Given the description of an element on the screen output the (x, y) to click on. 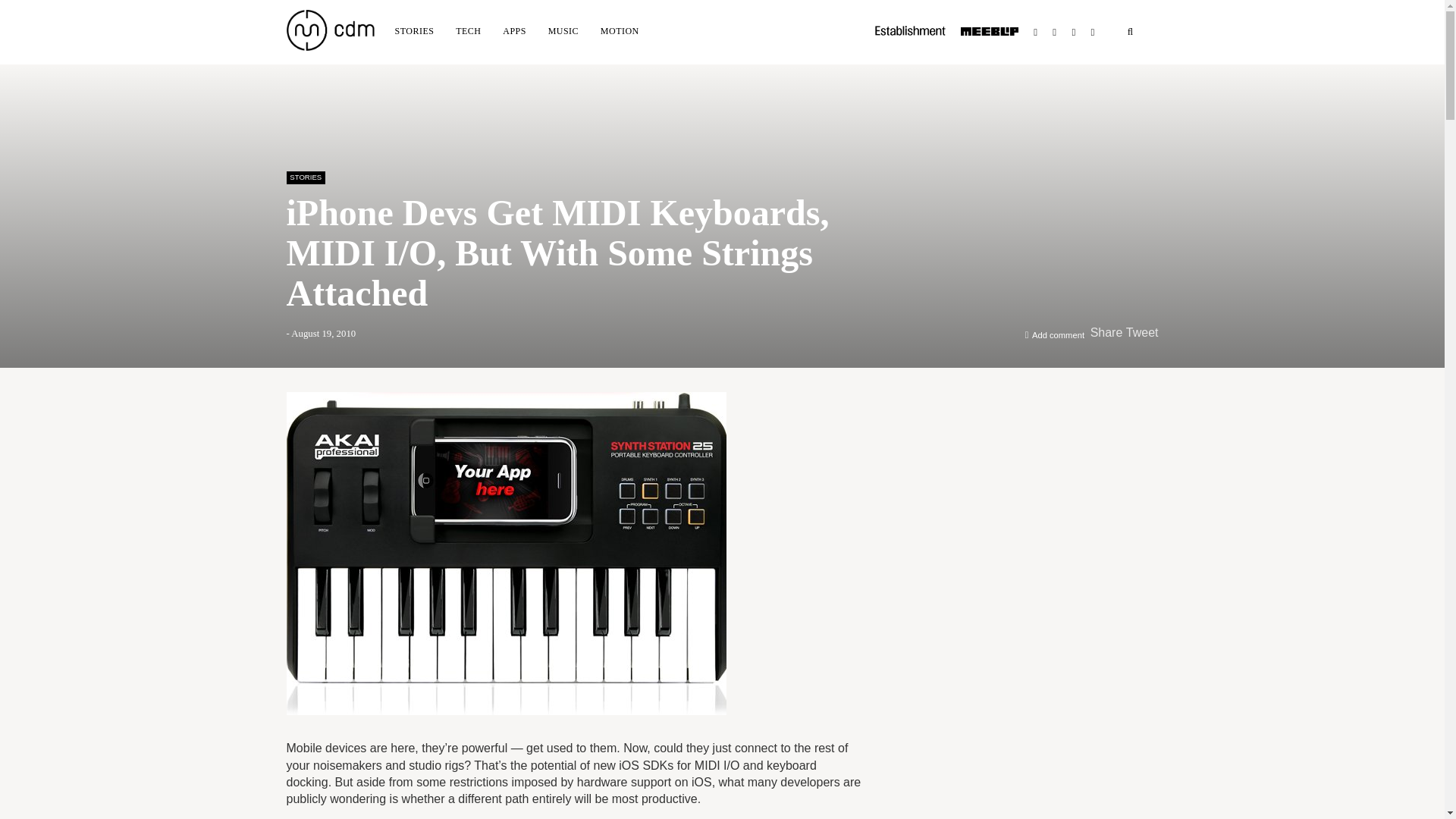
STORIES (306, 177)
search (1130, 32)
STORIES (414, 30)
Tweet (1141, 332)
Add comment (1058, 334)
MOTION (619, 30)
Share (1106, 332)
